Given the description of an element on the screen output the (x, y) to click on. 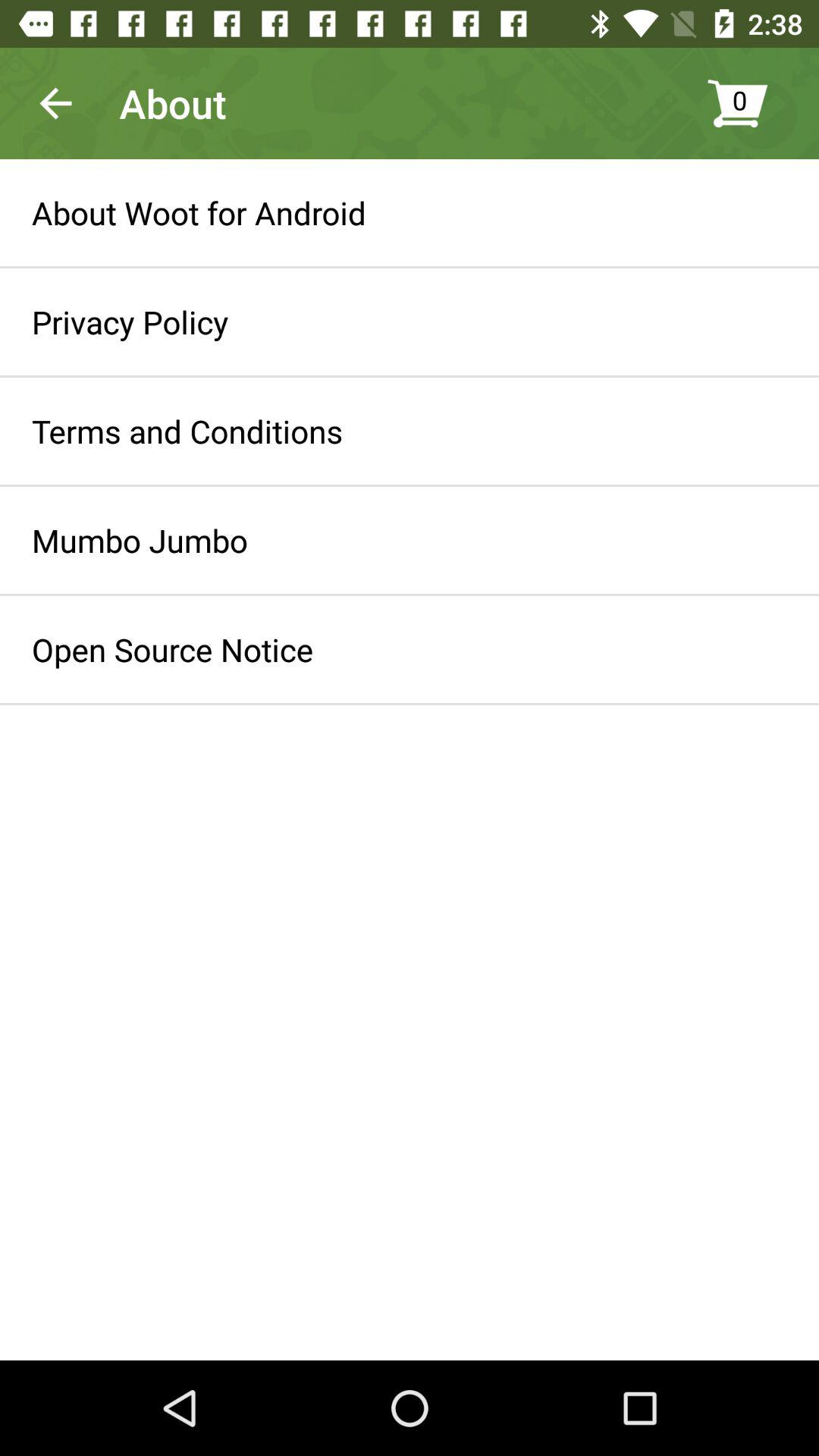
turn on icon above the about woot for item (55, 103)
